Given the description of an element on the screen output the (x, y) to click on. 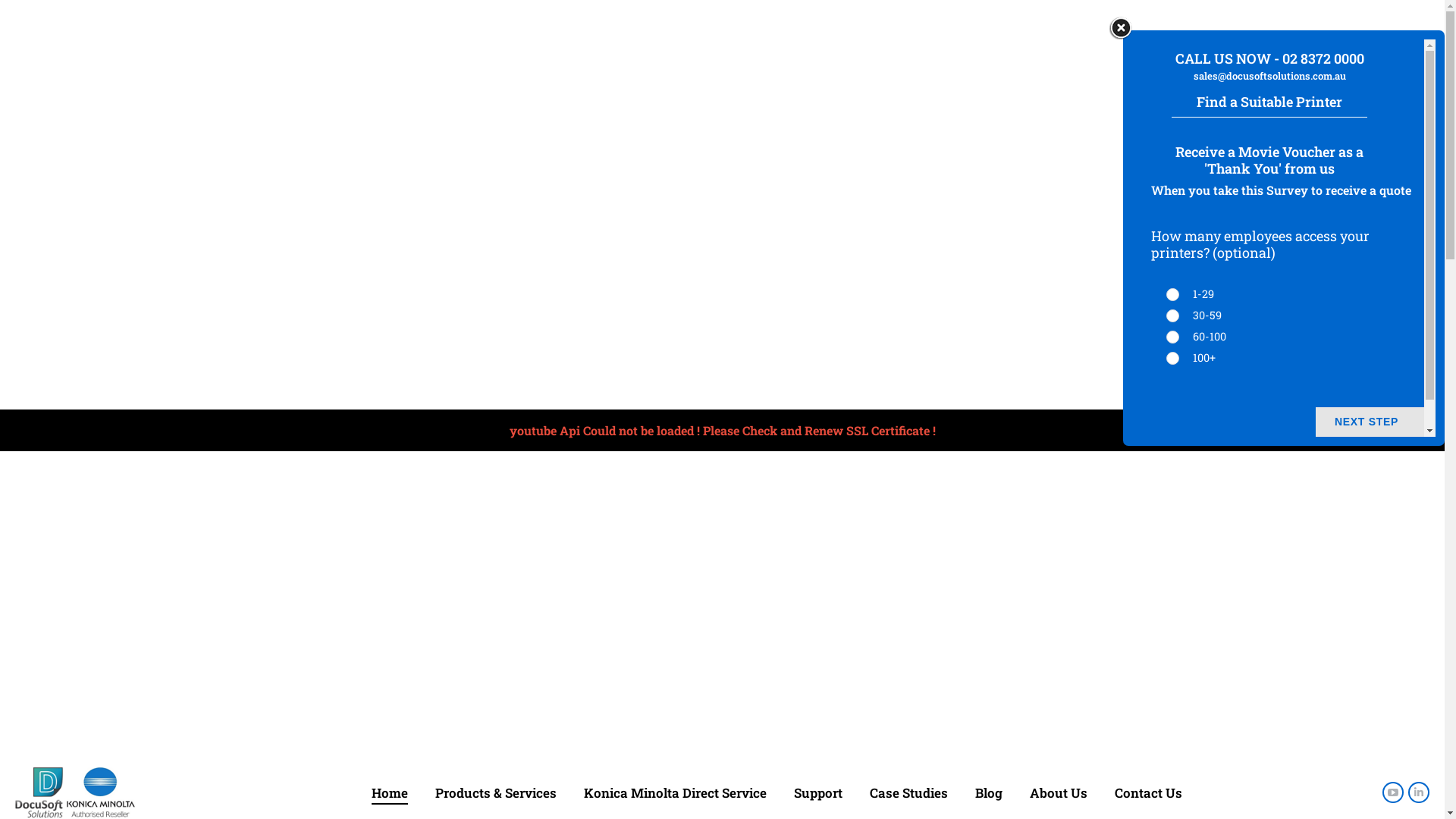
YouTube page opens in new window Element type: hover (1392, 792)
Linkedin page opens in new window Element type: hover (1418, 792)
NEXT STEP   Element type: text (1369, 421)
Home Element type: text (389, 792)
Konica Minolta Direct Service Element type: text (674, 792)
About Us Element type: text (1058, 792)
Close Element type: hover (1120, 27)
Products & Services Element type: text (495, 792)
Contact Us Element type: text (1148, 792)
Blog Element type: text (988, 792)
Support Element type: text (817, 792)
Case Studies Element type: text (908, 792)
